Given the description of an element on the screen output the (x, y) to click on. 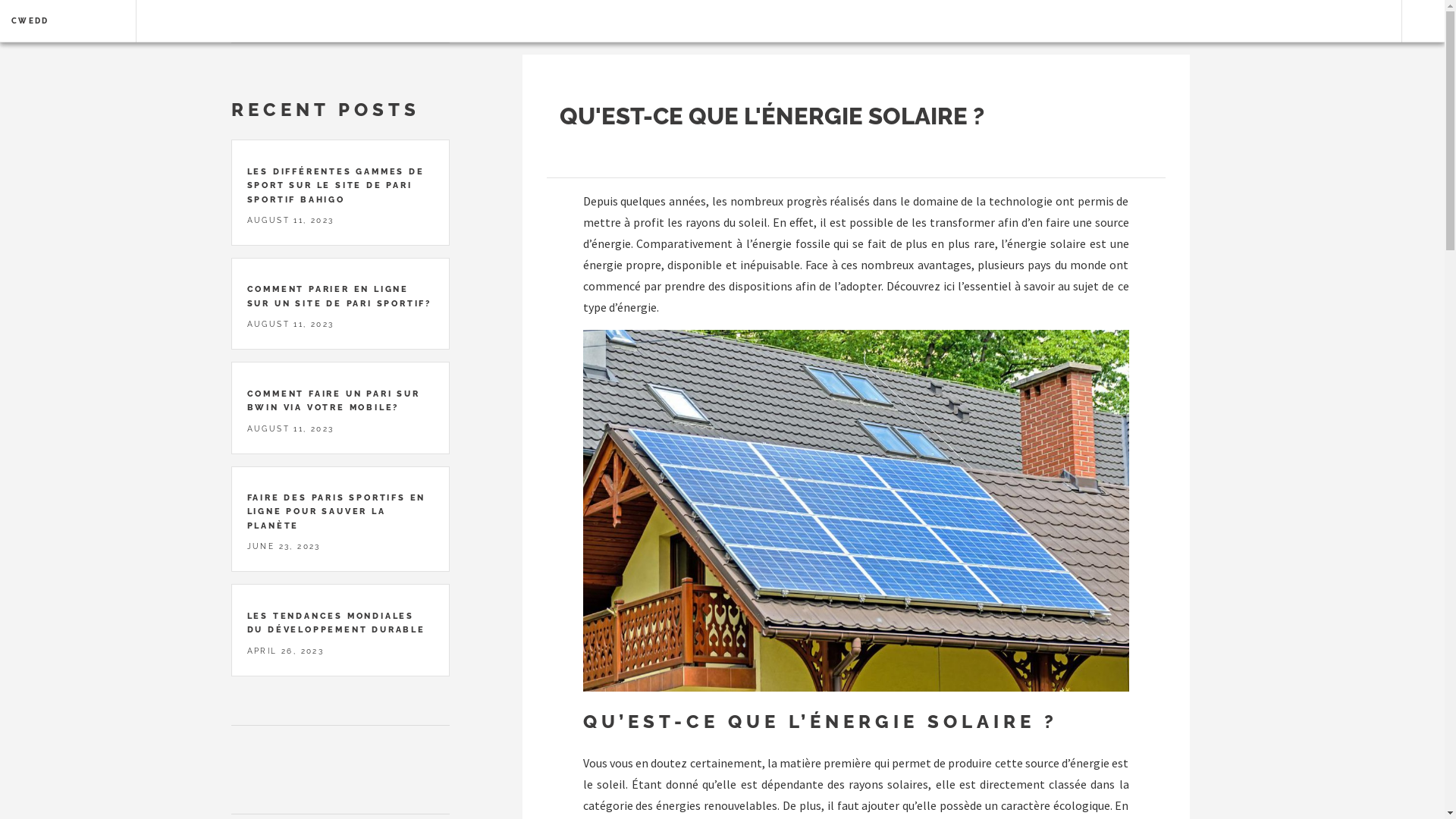
COMMENT FAIRE UN PARI SUR BWIN VIA VOTRE MOBILE? Element type: text (333, 400)
COMMENT PARIER EN LIGNE SUR UN SITE DE PARI SPORTIF? Element type: text (339, 295)
CWEDD Element type: text (57, 21)
